Given the description of an element on the screen output the (x, y) to click on. 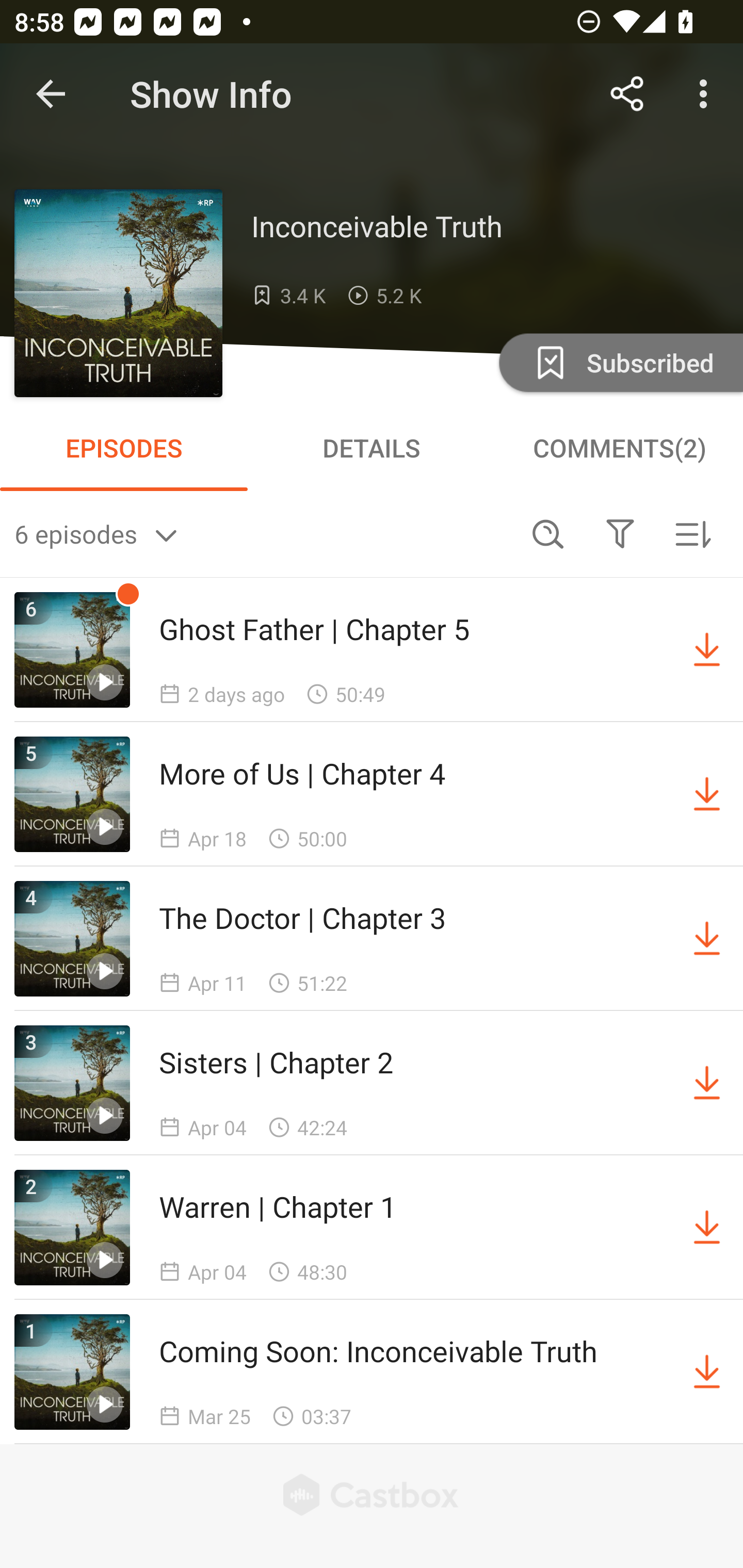
Navigate up (50, 93)
Share (626, 93)
More options (706, 93)
Unsubscribe Subscribed (619, 361)
EPISODES (123, 447)
DETAILS (371, 447)
COMMENTS(2) (619, 447)
6 episodes  (262, 533)
 Search (547, 533)
 (619, 533)
 Sorted by newest first (692, 533)
Download (706, 649)
Download (706, 793)
Download (706, 939)
Download (706, 1083)
Download (706, 1227)
Download (706, 1371)
